Given the description of an element on the screen output the (x, y) to click on. 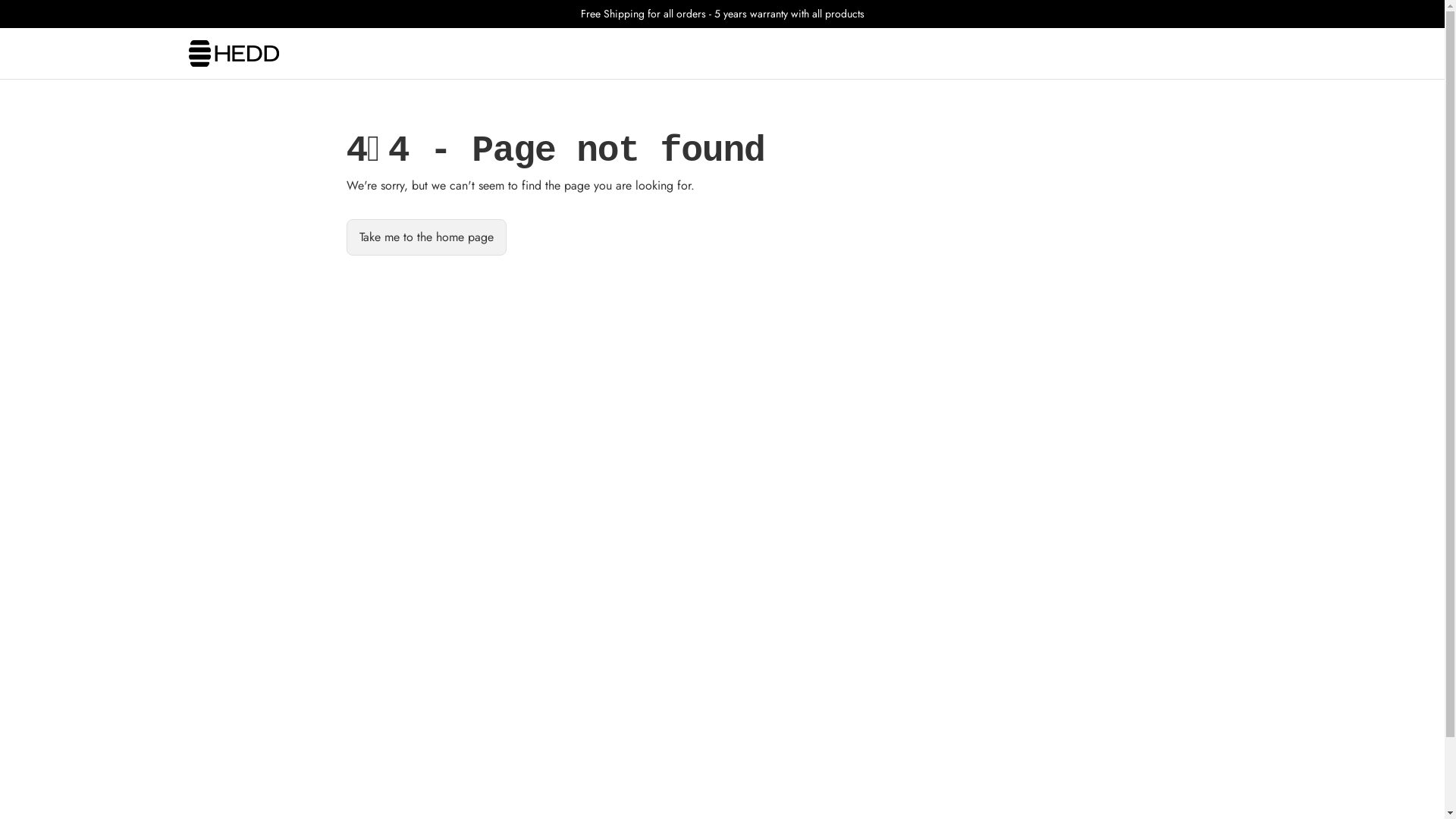
Take me to the home page Element type: text (425, 237)
